Given the description of an element on the screen output the (x, y) to click on. 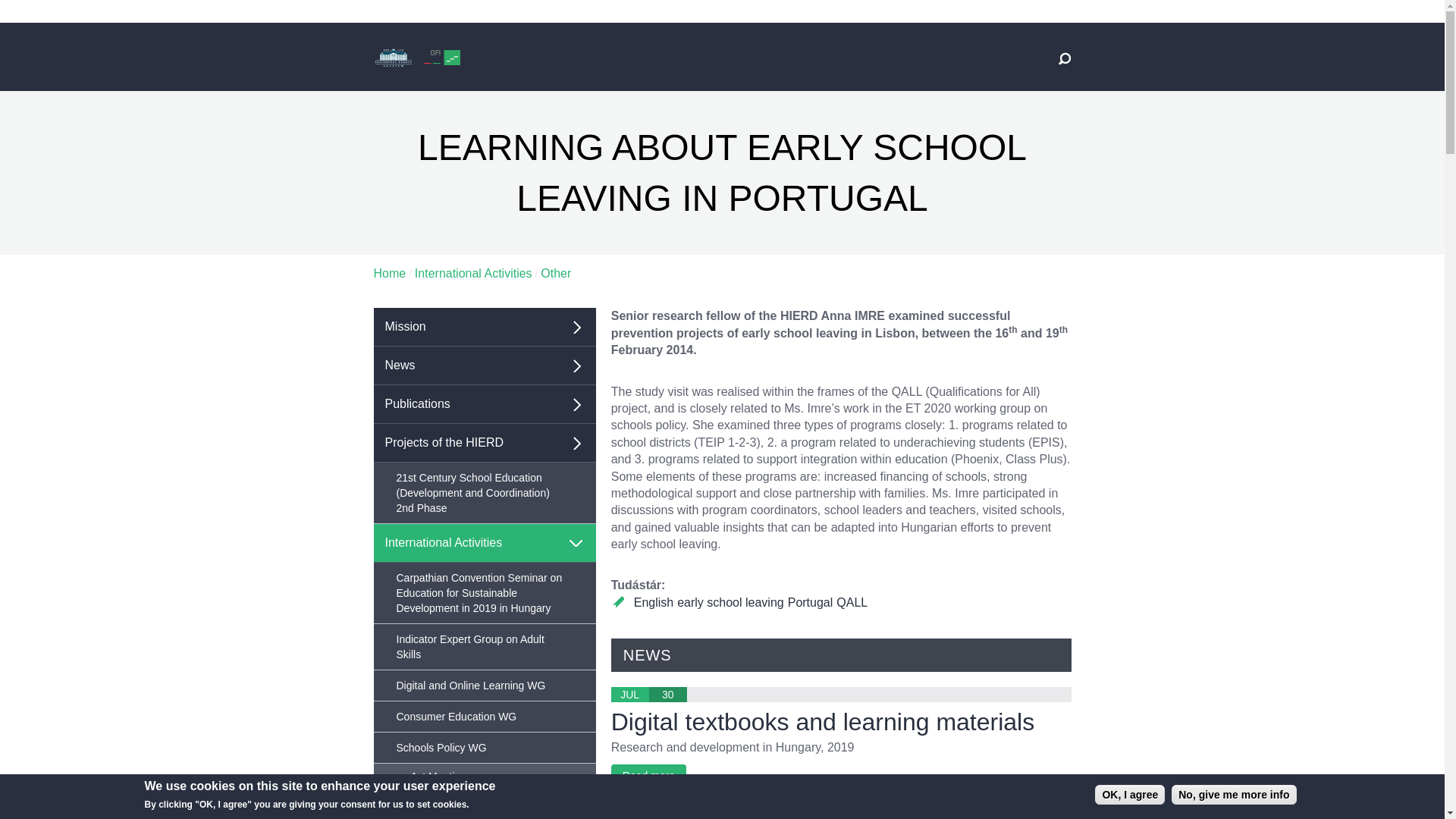
Schools Policy WG (483, 747)
News (483, 365)
Consumer Education WG (483, 716)
Mission (483, 326)
2nd Meeting (483, 803)
Search (1051, 116)
1st Meeting (483, 776)
Digital and Online Learning WG (483, 685)
Other (555, 273)
Projects of the HIERD (483, 443)
Publications (483, 404)
Indicator Expert Group on Adult Skills (483, 647)
